Given the description of an element on the screen output the (x, y) to click on. 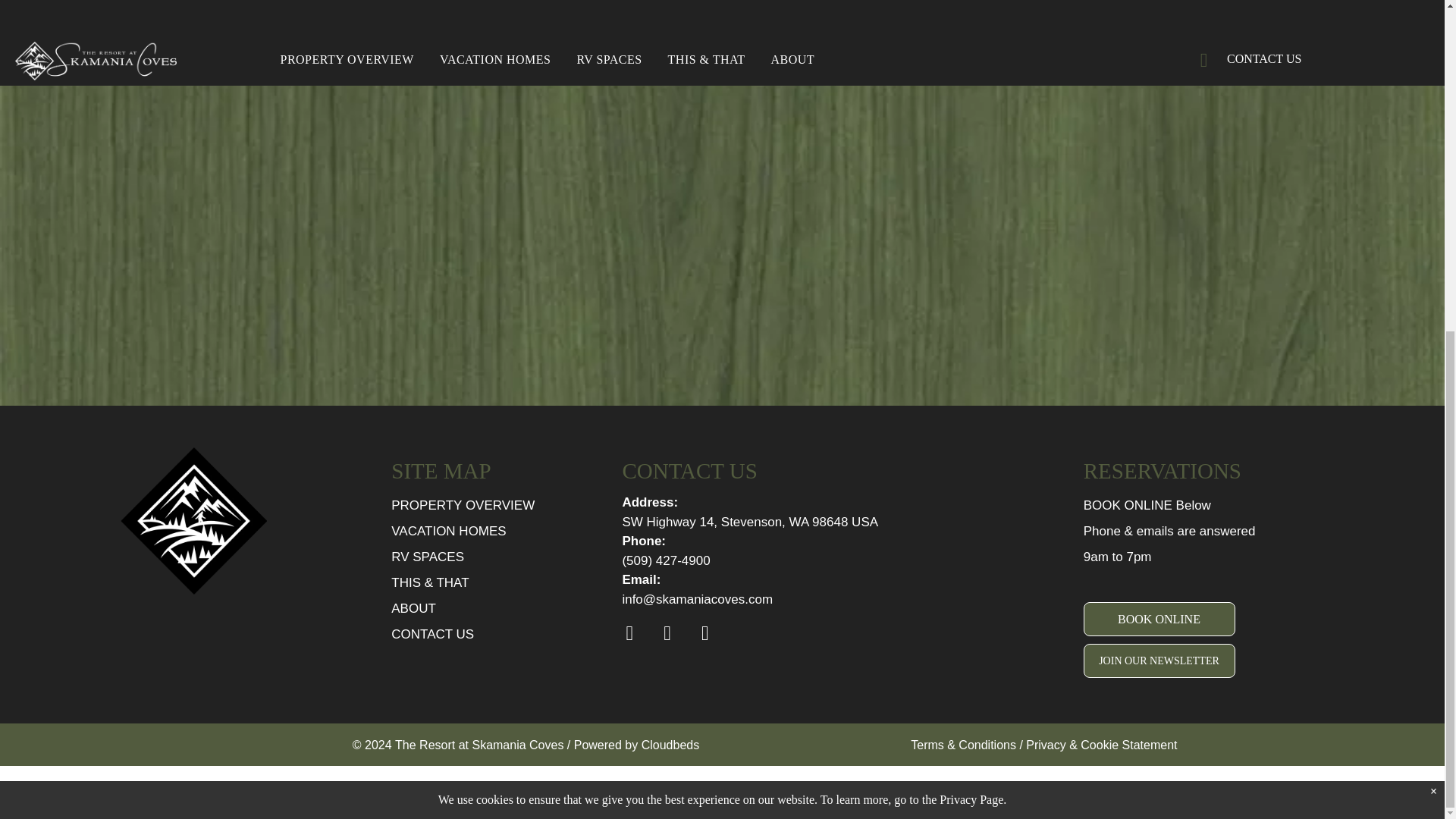
RV SPACES (427, 556)
VACATION HOMES (448, 531)
PROPERTY OVERVIEW (462, 504)
CONTACT US (432, 634)
ABOUT (413, 608)
